Given the description of an element on the screen output the (x, y) to click on. 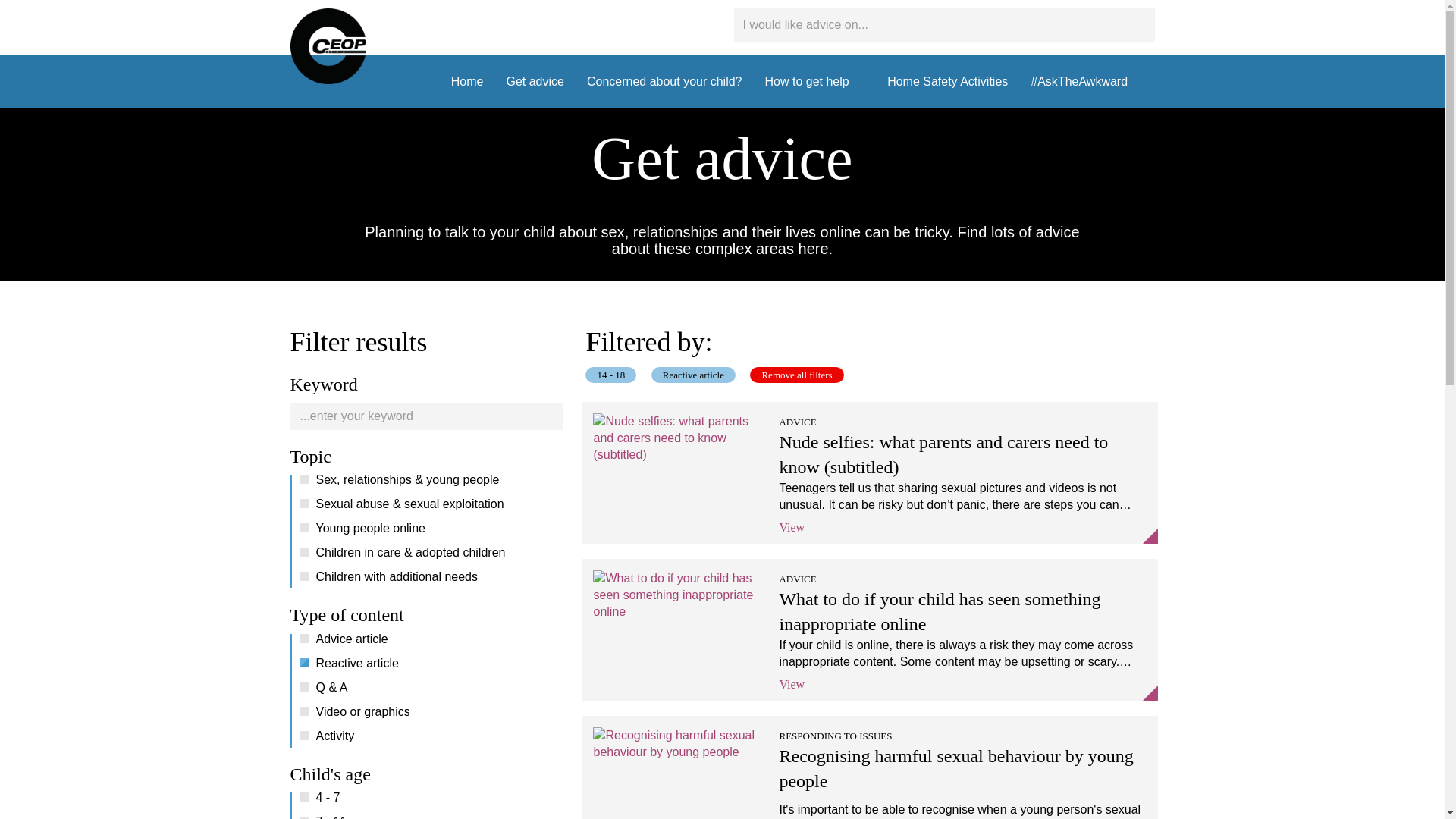
4 - 7 (426, 800)
How to get help (815, 81)
Reactive article (692, 375)
Reactive article (426, 666)
Children with additional needs (426, 579)
Concerned about your child? (664, 81)
Get advice (535, 81)
Home Safety Activities (947, 81)
Video or graphics (426, 714)
Remove all filters (796, 375)
Home (467, 81)
14 - 18 (610, 375)
Young people online (426, 531)
Advice article (426, 641)
